Given the description of an element on the screen output the (x, y) to click on. 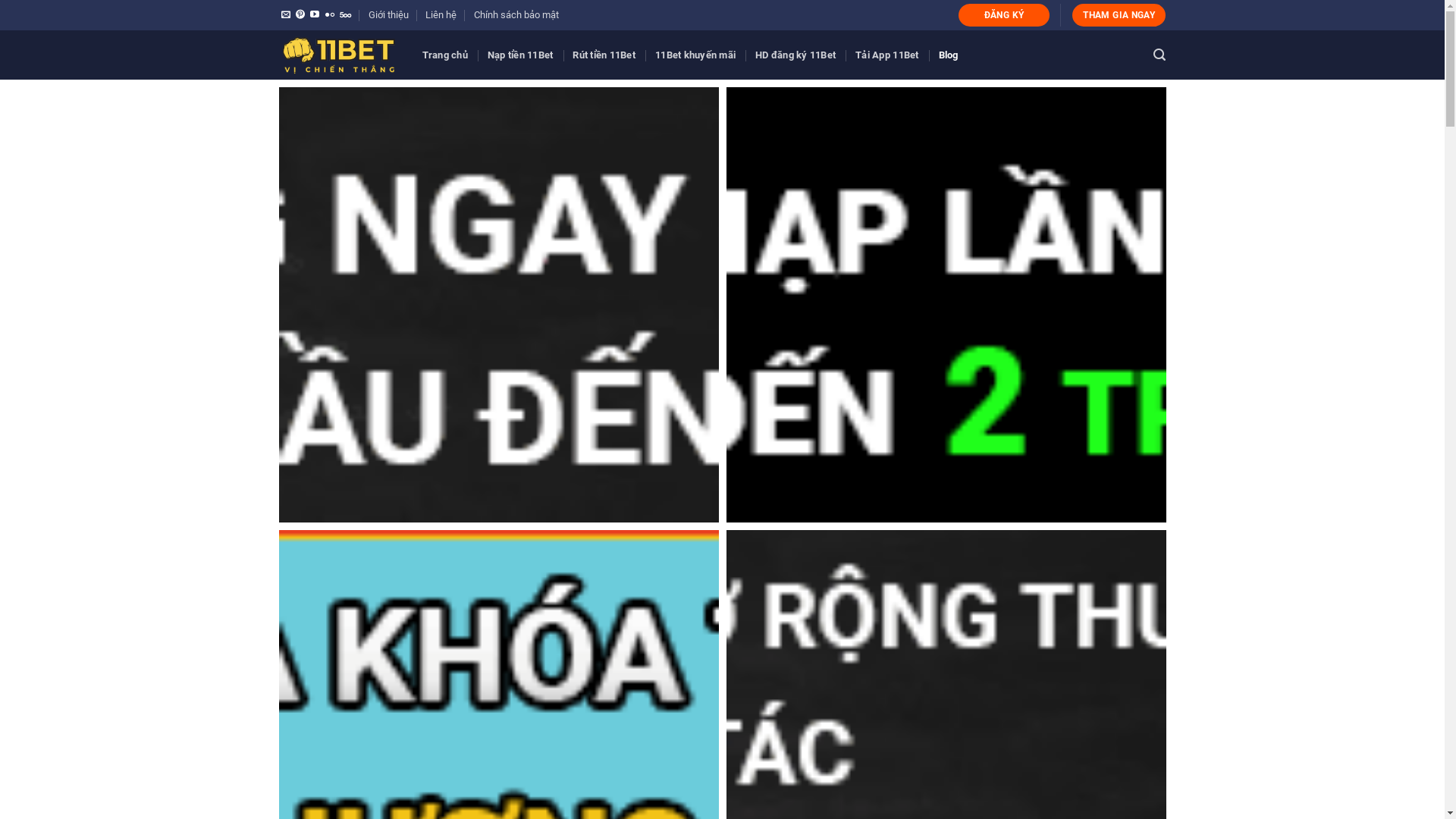
d9bet Element type: hover (498, 304)
Blog Element type: text (948, 54)
THAM GIA NGAY Element type: text (1118, 14)
Mot88 Element type: hover (946, 304)
